Given the description of an element on the screen output the (x, y) to click on. 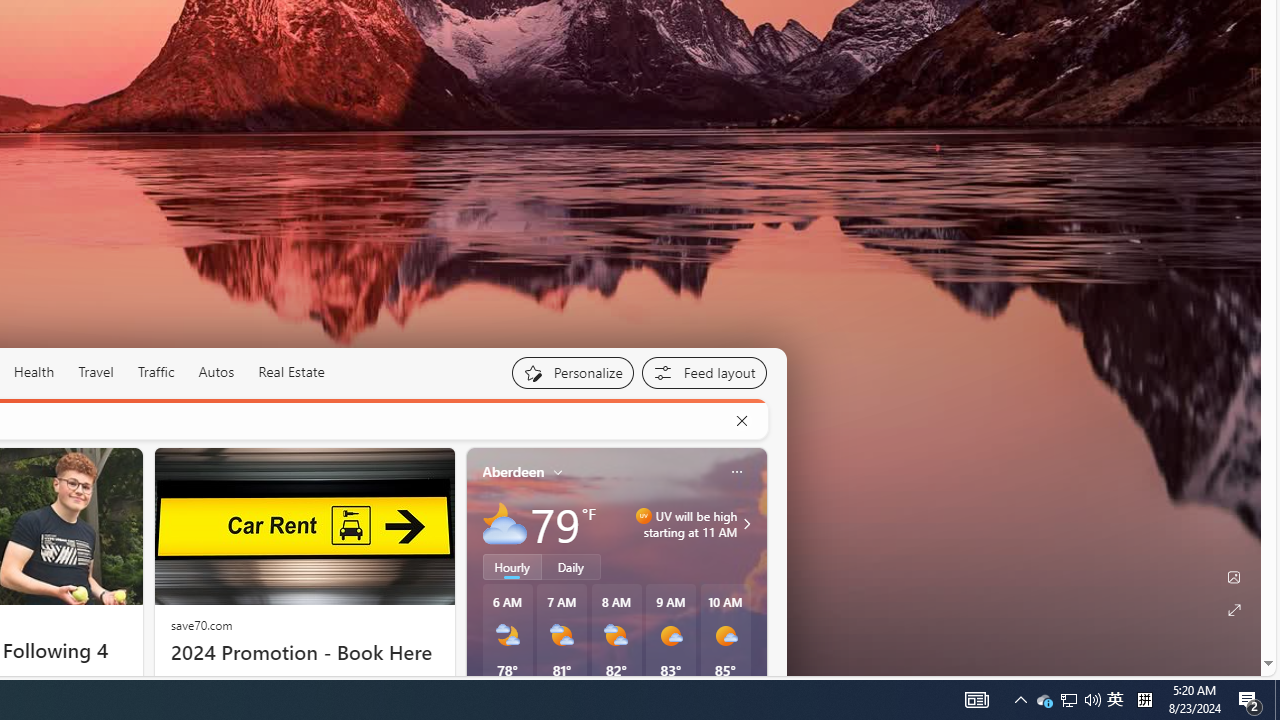
Real Estate (290, 372)
Hourly (511, 566)
Cancel (741, 421)
Health (33, 372)
UV will be high starting at 11 AM (744, 523)
Edit Background (1233, 577)
Traffic (155, 372)
